Given the description of an element on the screen output the (x, y) to click on. 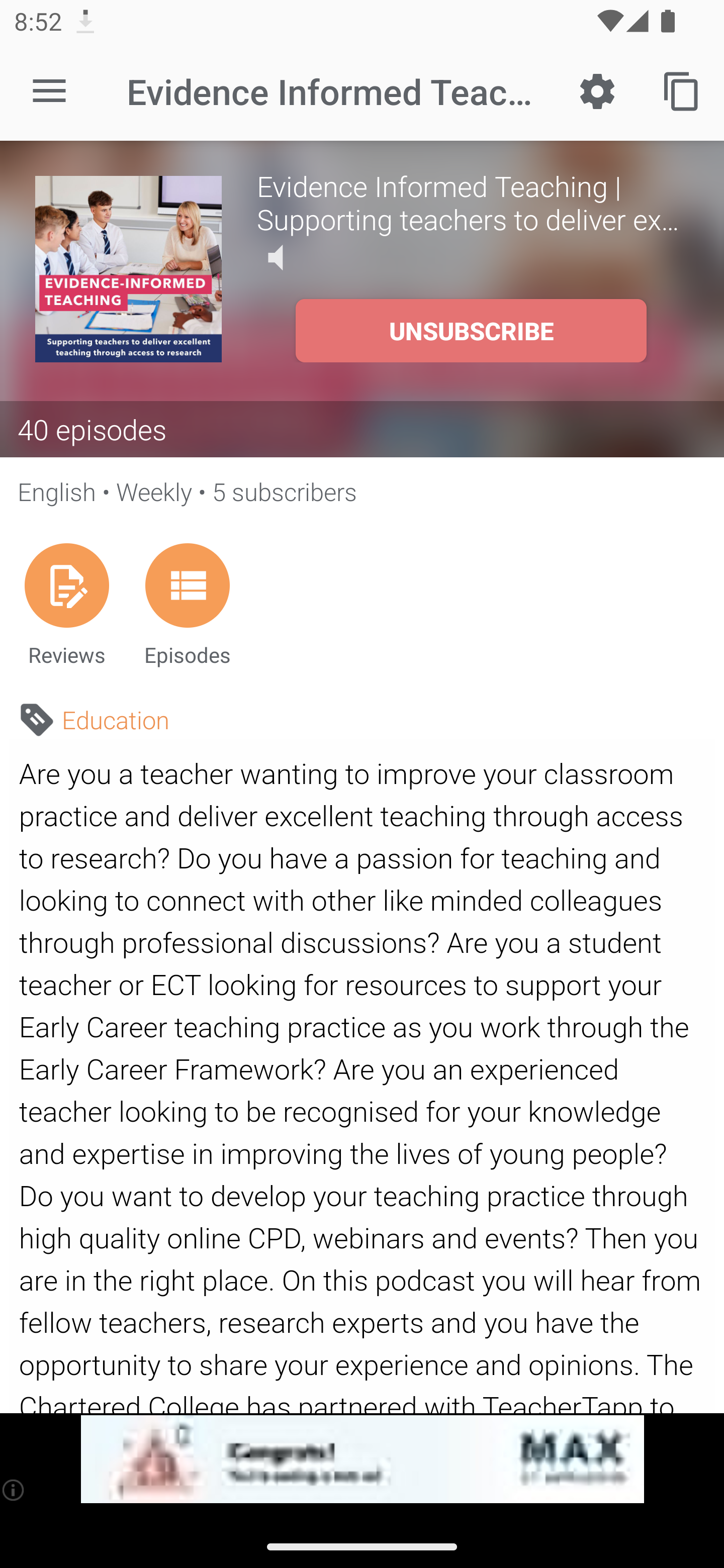
Open navigation sidebar (49, 91)
Settings (597, 90)
Copy feed url to clipboard (681, 90)
UNSUBSCRIBE (470, 330)
Reviews (66, 604)
Episodes (187, 604)
app-monetization (362, 1459)
(i) (14, 1489)
